Given the description of an element on the screen output the (x, y) to click on. 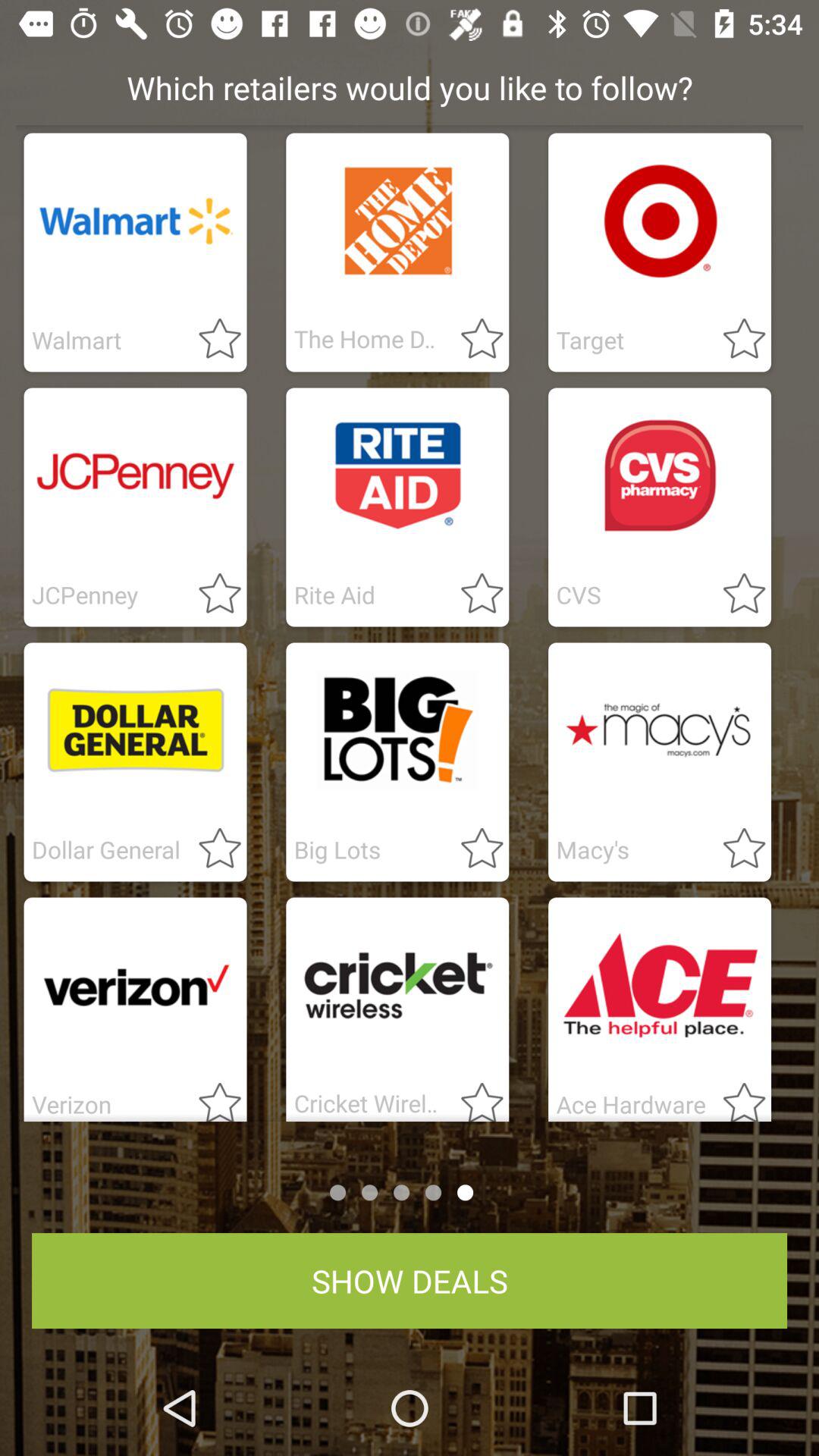
switch favorites option (735, 849)
